Given the description of an element on the screen output the (x, y) to click on. 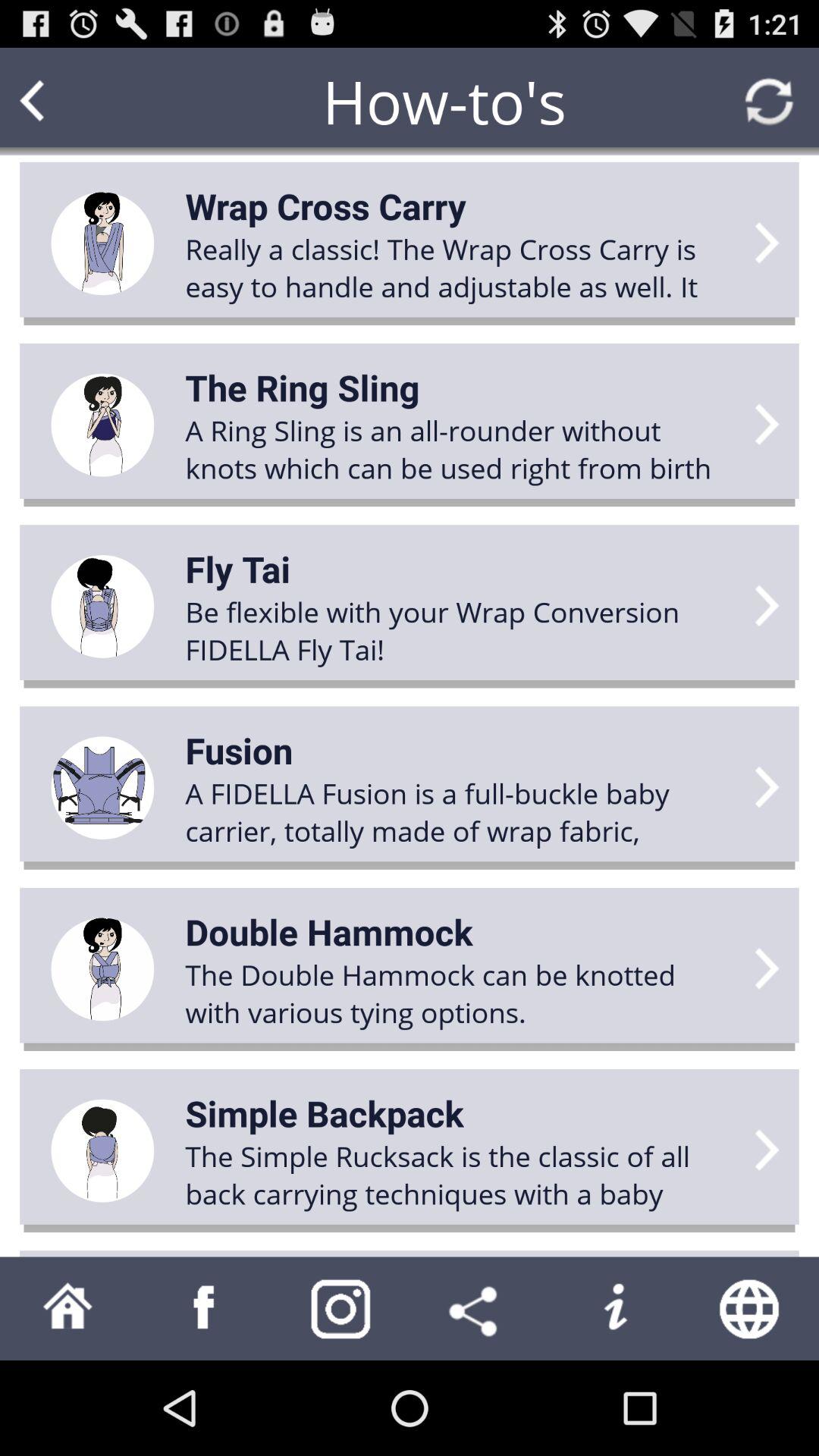
connect to web (750, 1308)
